Given the description of an element on the screen output the (x, y) to click on. 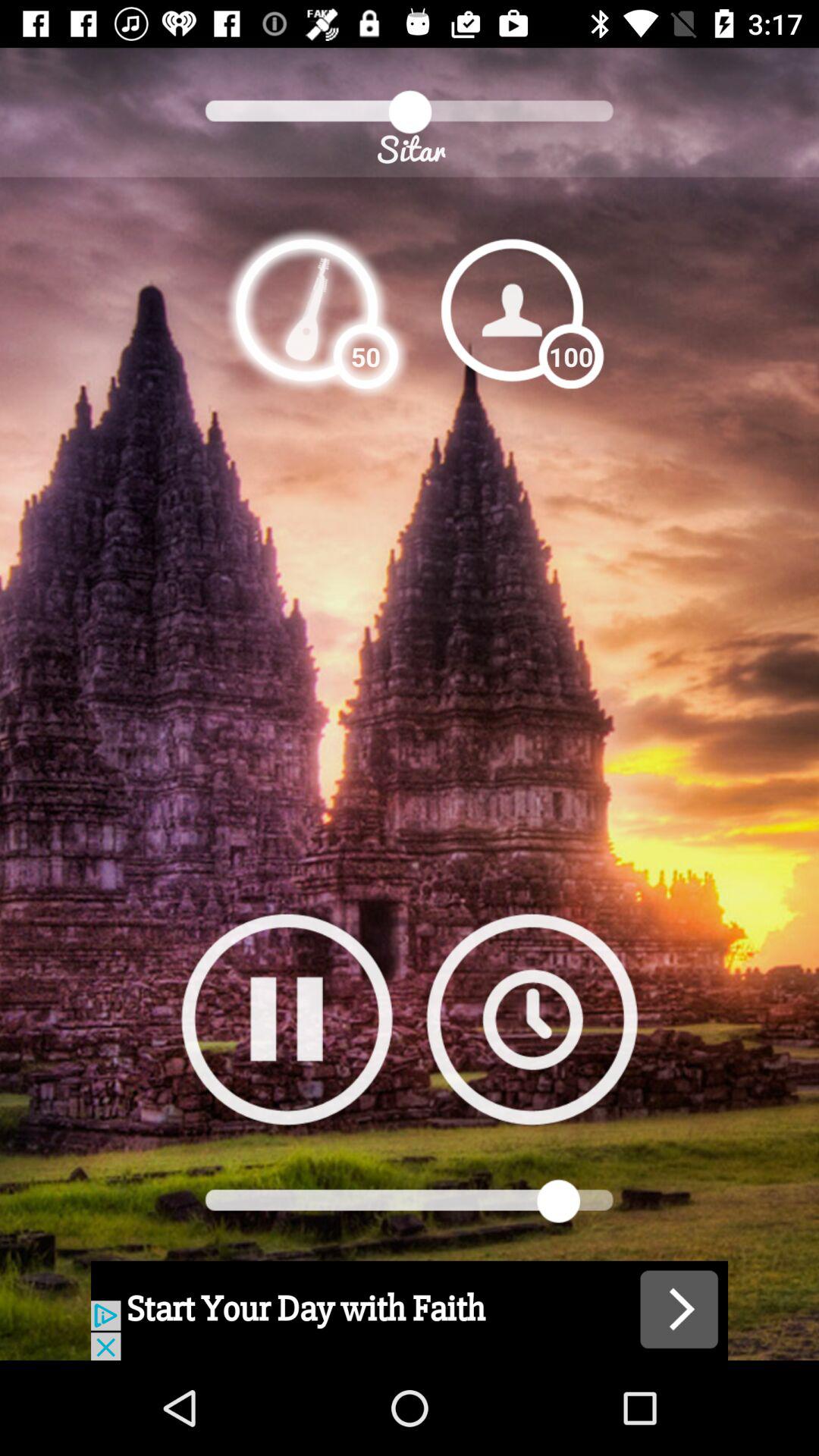
select time (531, 1018)
